Given the description of an element on the screen output the (x, y) to click on. 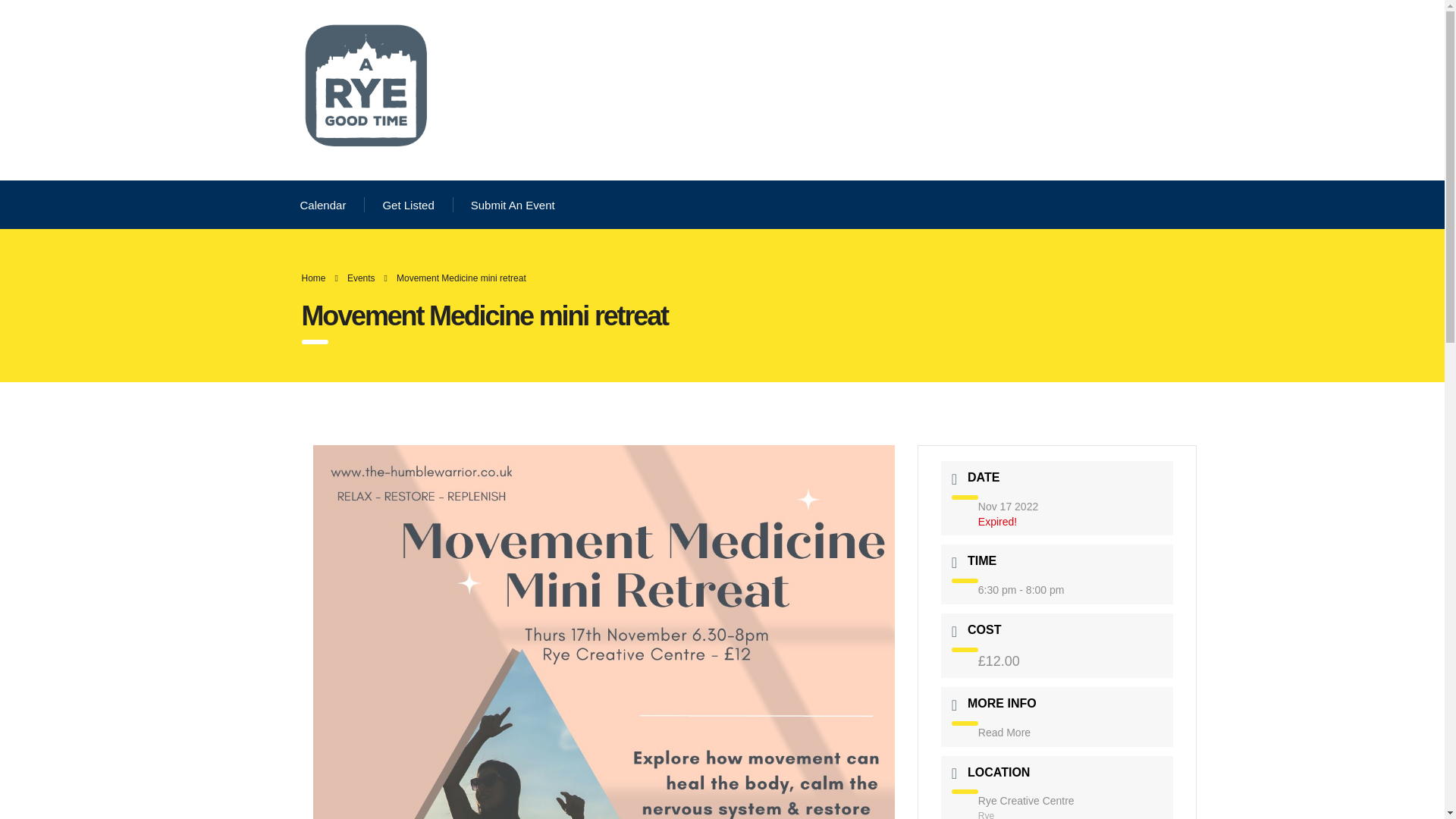
Get Listed (407, 204)
Home (313, 277)
Events (361, 277)
Calendar (323, 204)
Read More (1004, 732)
Go to Events. (361, 277)
Go to A Rye Good Time. (313, 277)
Submit An Event (512, 204)
